Given the description of an element on the screen output the (x, y) to click on. 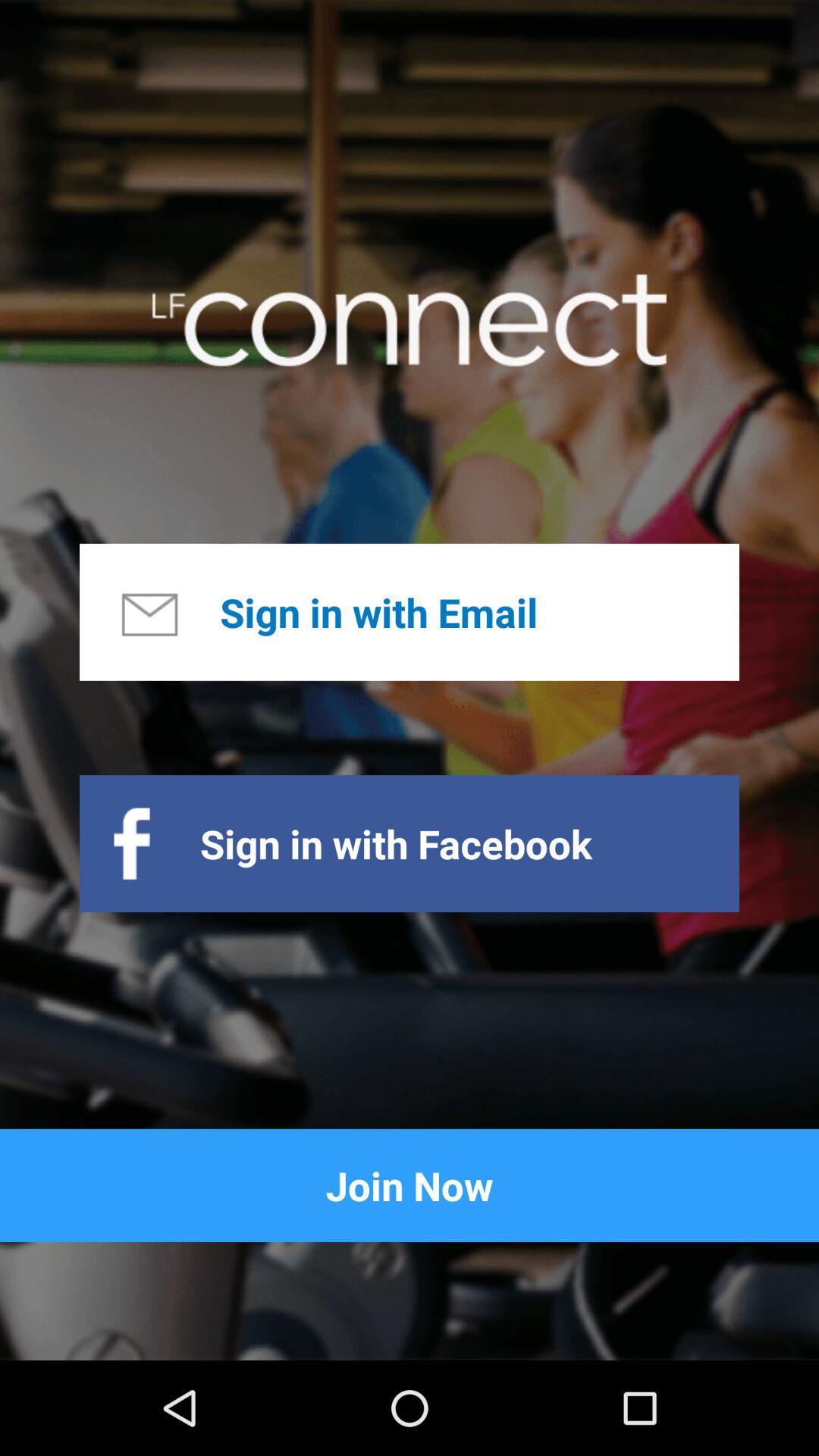
swipe to join now (409, 1185)
